Given the description of an element on the screen output the (x, y) to click on. 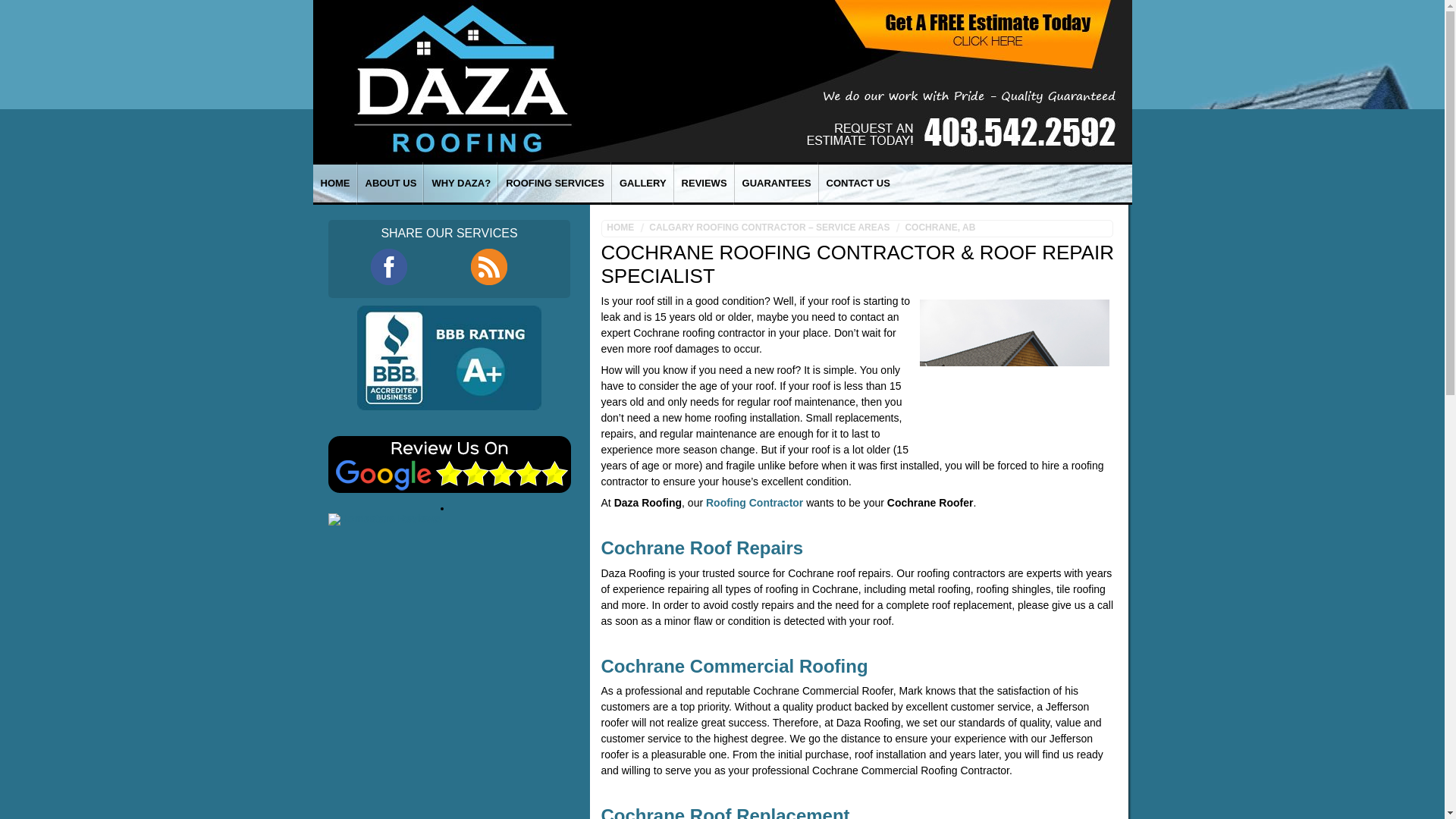
WHY DAZA? (460, 183)
REVIEWS (704, 183)
GALLERY (642, 183)
ABOUT US (391, 183)
ROOFING SERVICES (554, 183)
HOME (334, 183)
COCHRANE, AB (938, 227)
GUARANTEES (776, 183)
Roofing Contractor (754, 502)
HOME (623, 227)
